Given the description of an element on the screen output the (x, y) to click on. 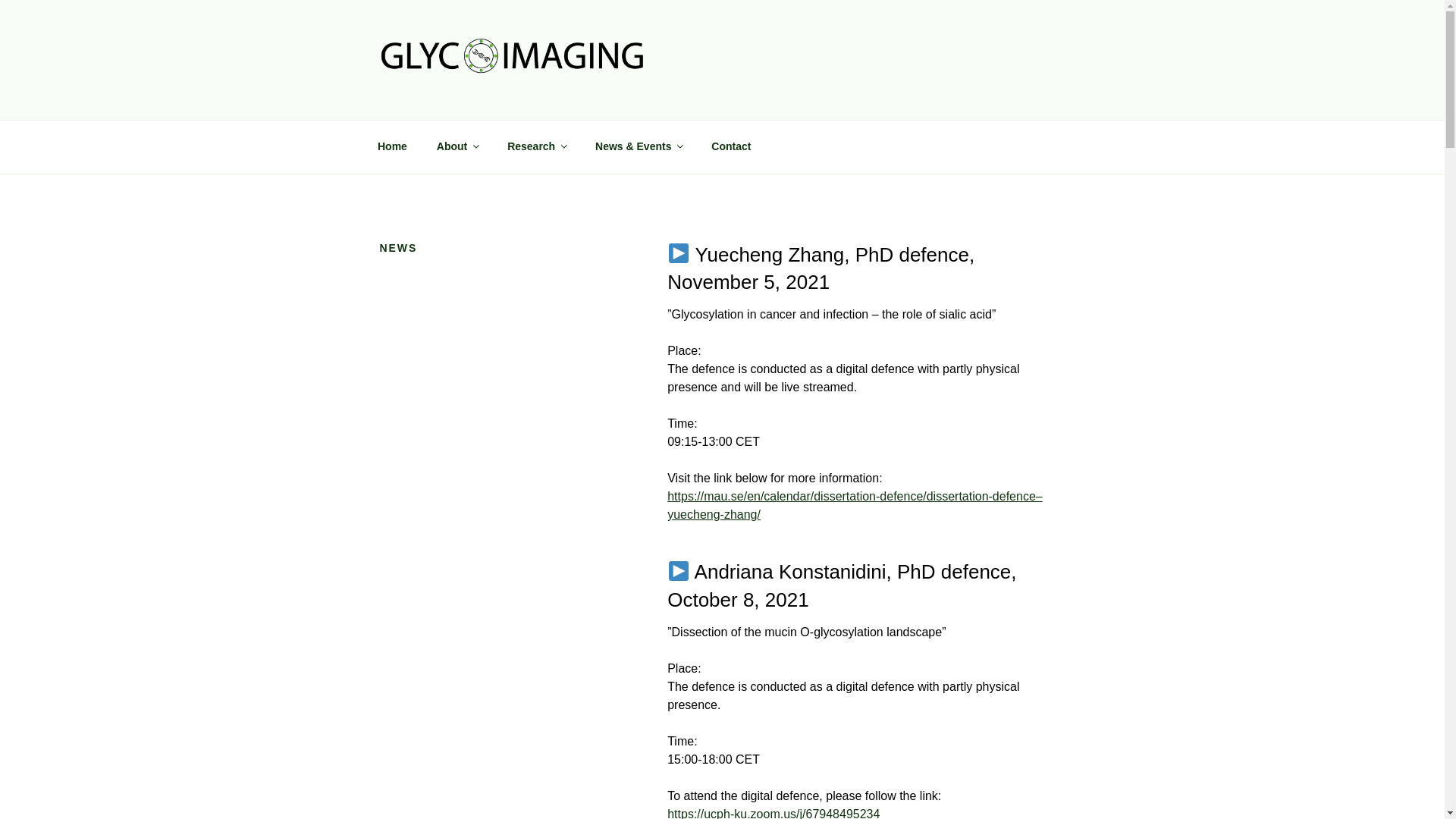
GLYCOIMAGING (499, 100)
Contact (731, 146)
About (456, 146)
Home (392, 146)
Research (537, 146)
